Given the description of an element on the screen output the (x, y) to click on. 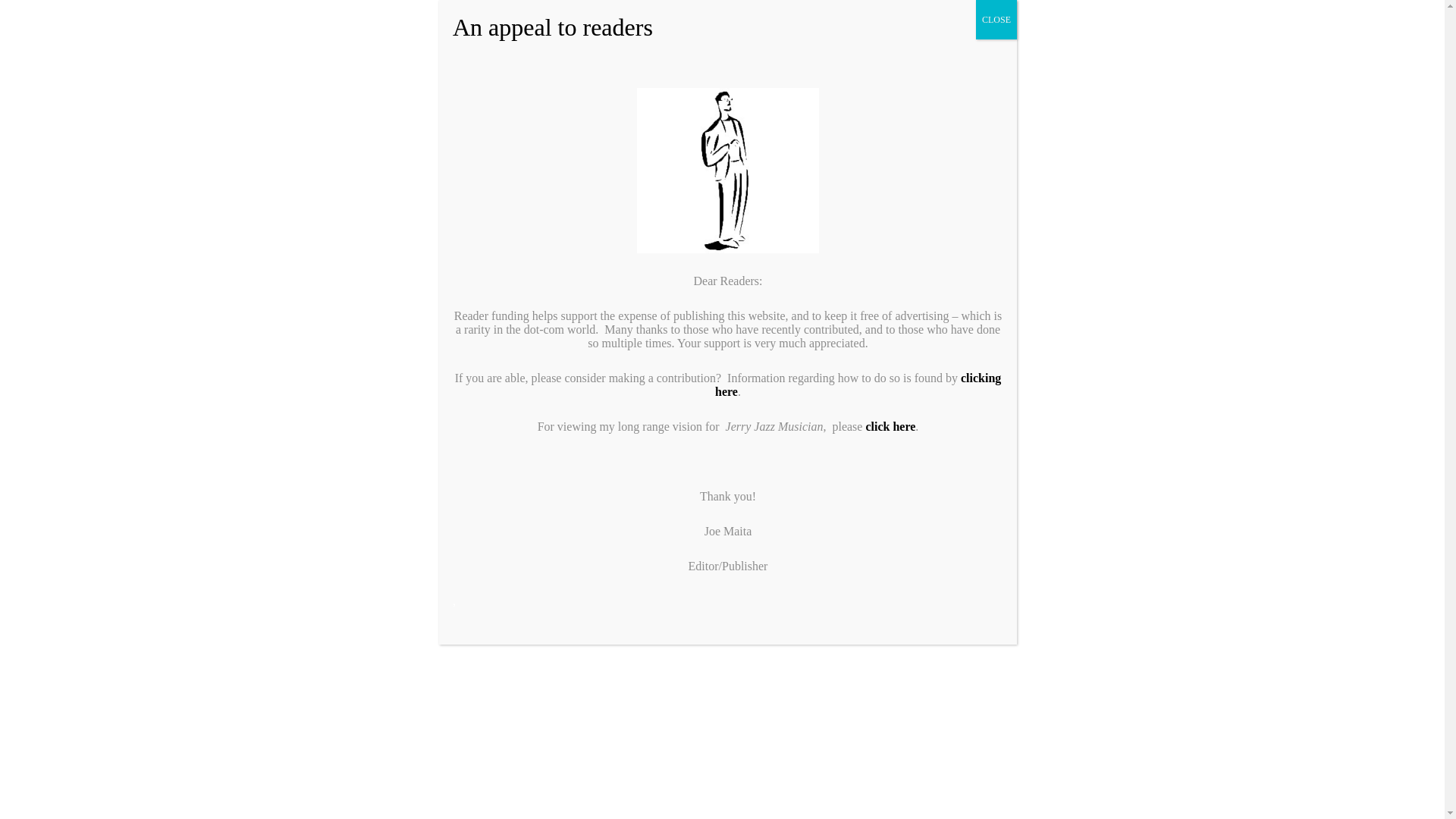
SUBMIT (1106, 127)
Poetry by Mary M. Schmidt (1146, 21)
Jerry Jazz Musician (379, 200)
Poetry by Mary M. Schmidt (1117, 21)
FEATURES (416, 230)
SUBSCRIBE (978, 127)
INTERVIEWS (541, 230)
HOME (317, 230)
Jerry Jazz Musician (510, 127)
